Given the description of an element on the screen output the (x, y) to click on. 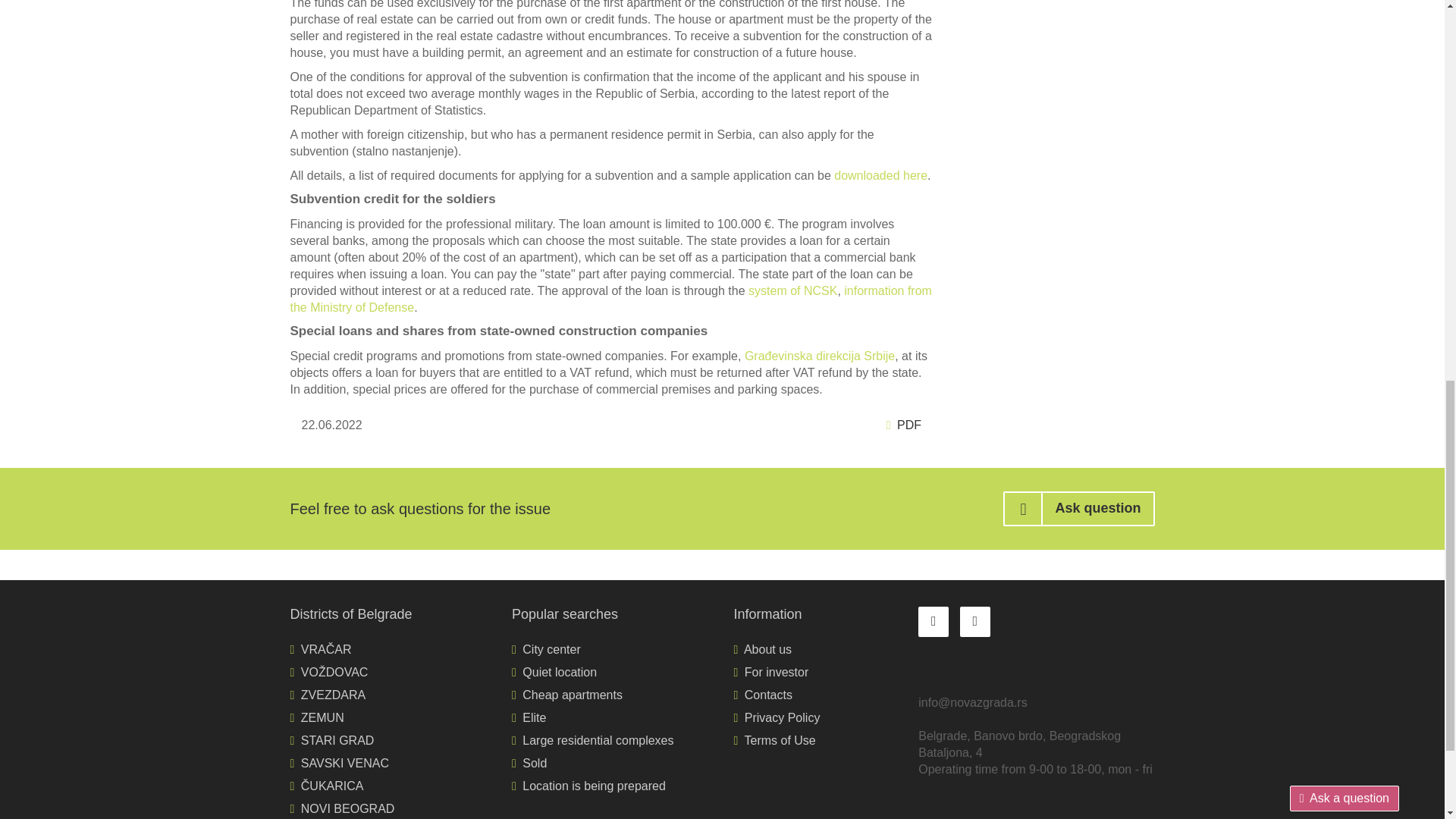
Srbije (877, 355)
information from the Ministry of Defense (610, 298)
downloaded here (880, 174)
direkcija (837, 355)
PDF (903, 425)
system of NCSK (792, 290)
